Given the description of an element on the screen output the (x, y) to click on. 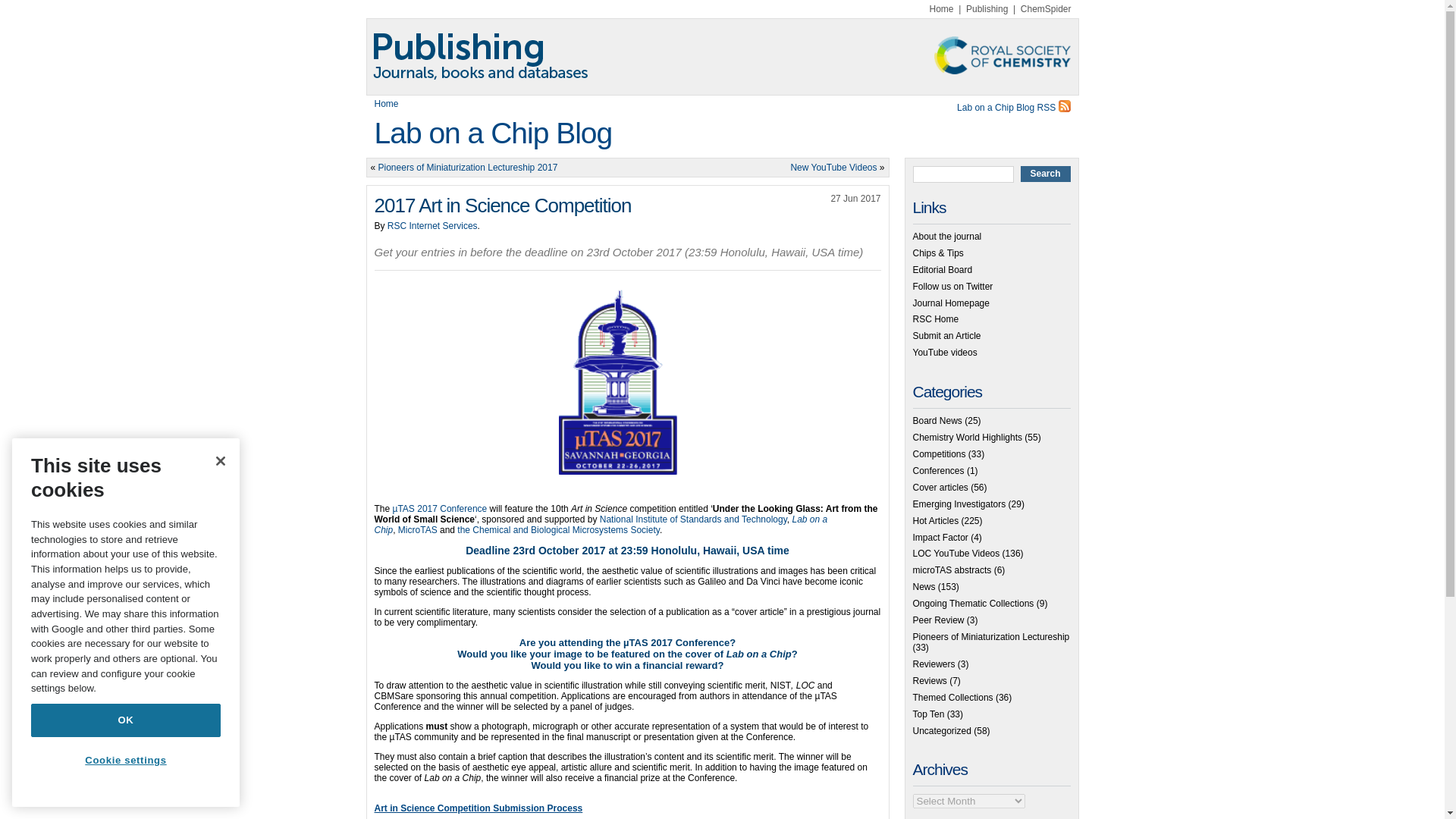
Art in Science Competition Submission Process (478, 811)
Editorial Board (942, 269)
Search (1045, 173)
Follow us on Twitter (952, 286)
Posts by RSC Internet Services (432, 225)
National Institute of Standards and Technology (693, 519)
Lab on a Chip (601, 524)
Journal Homepage (951, 303)
Home (386, 103)
About the journal (946, 235)
